Given the description of an element on the screen output the (x, y) to click on. 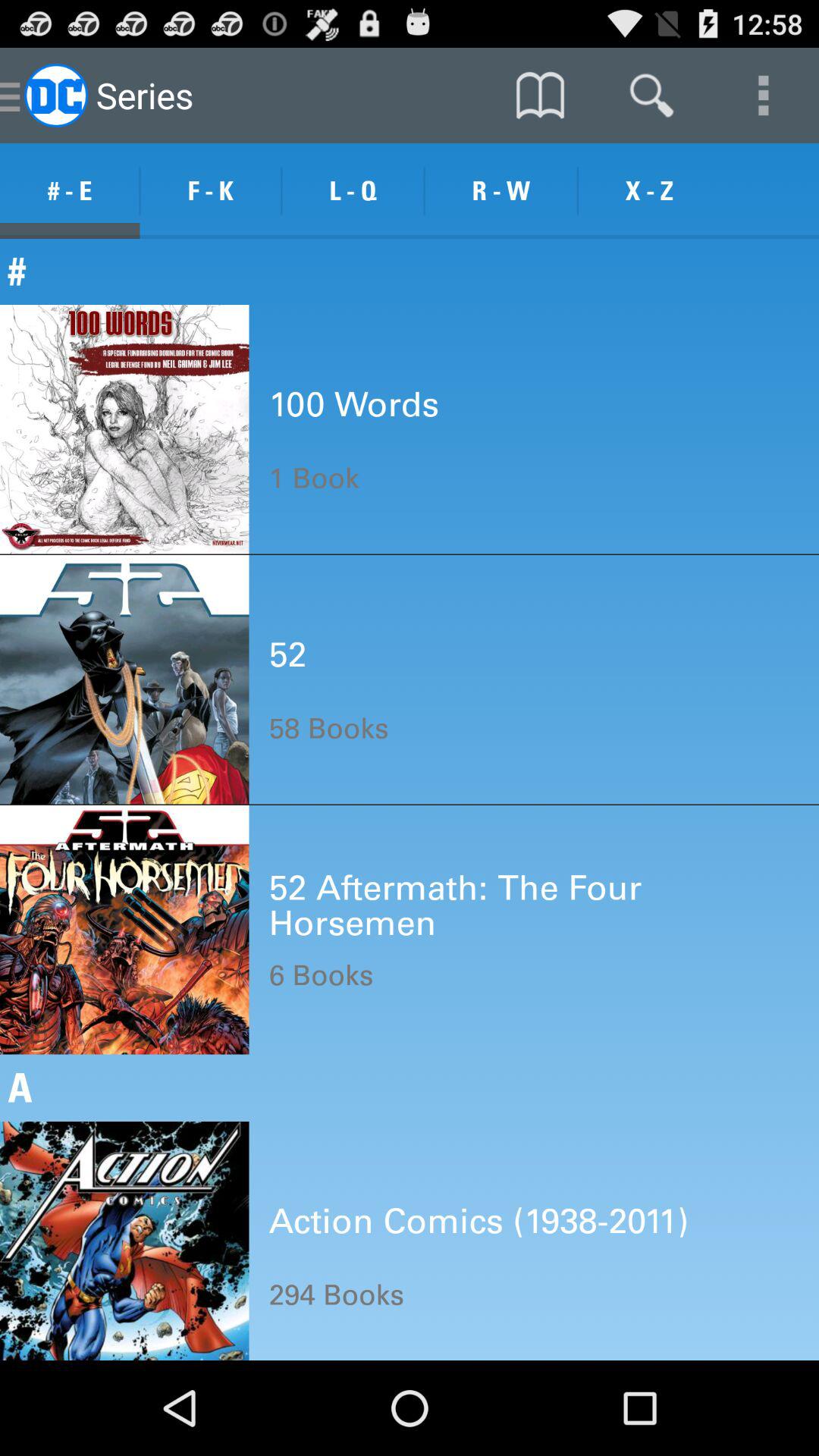
tap item above the # (500, 190)
